Given the description of an element on the screen output the (x, y) to click on. 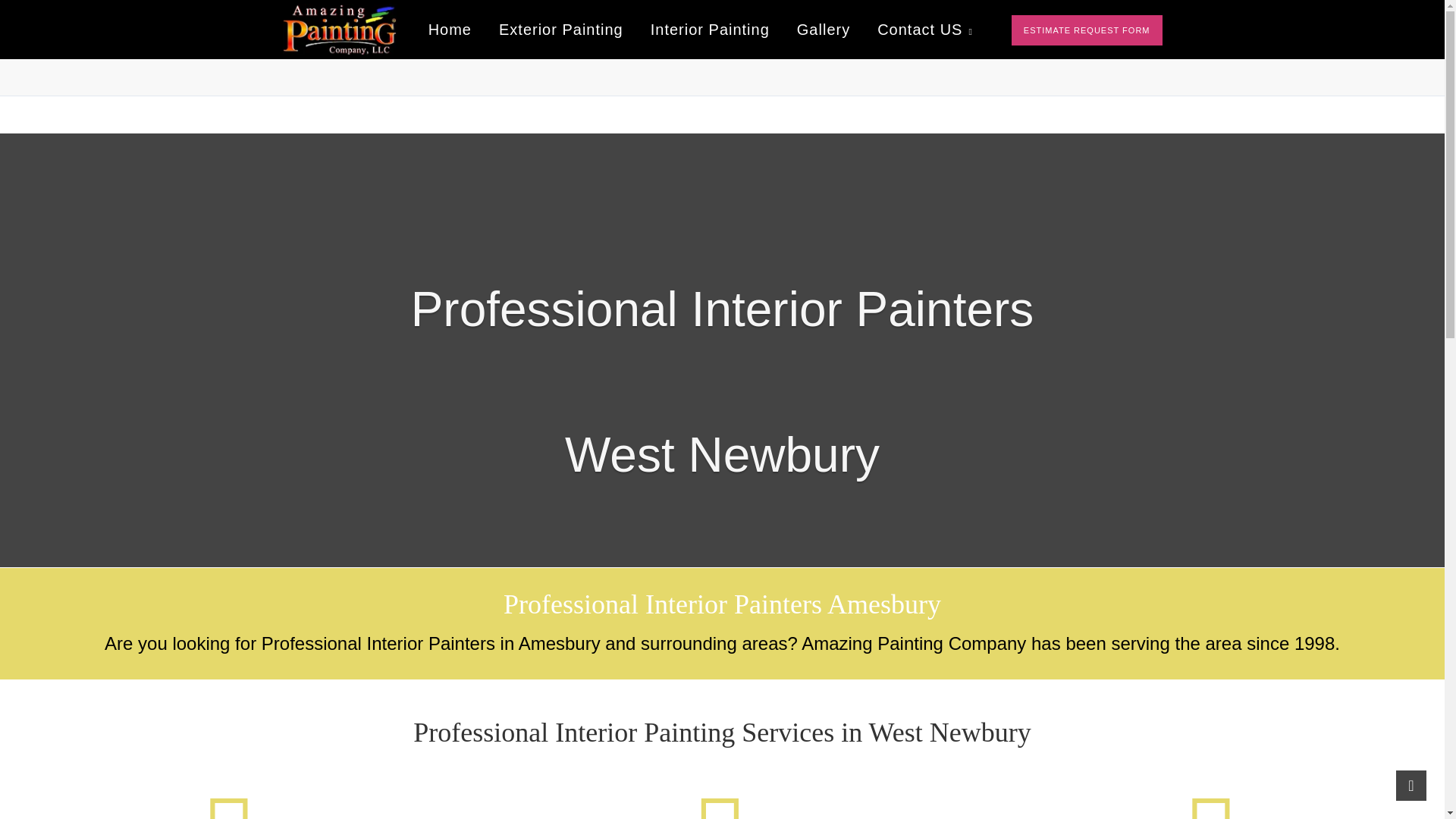
Home (449, 29)
Contact US (925, 29)
Gallery (823, 29)
Exterior Painting (560, 29)
Interior Painting (710, 29)
Amazing Painting Company (339, 29)
ESTIMATE REQUEST FORM (1086, 30)
